Given the description of an element on the screen output the (x, y) to click on. 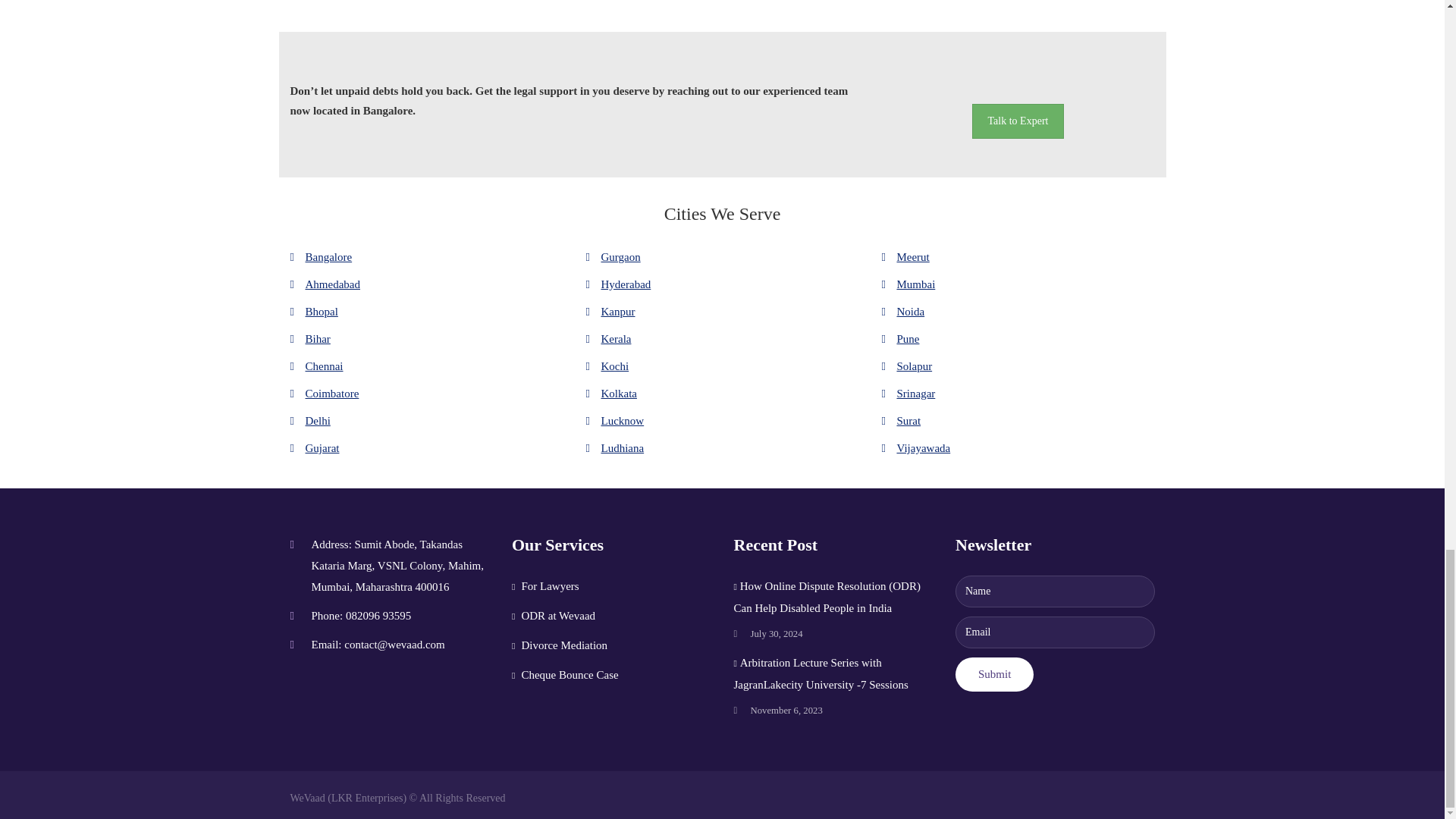
Name (1054, 591)
Email (1054, 632)
